Given the description of an element on the screen output the (x, y) to click on. 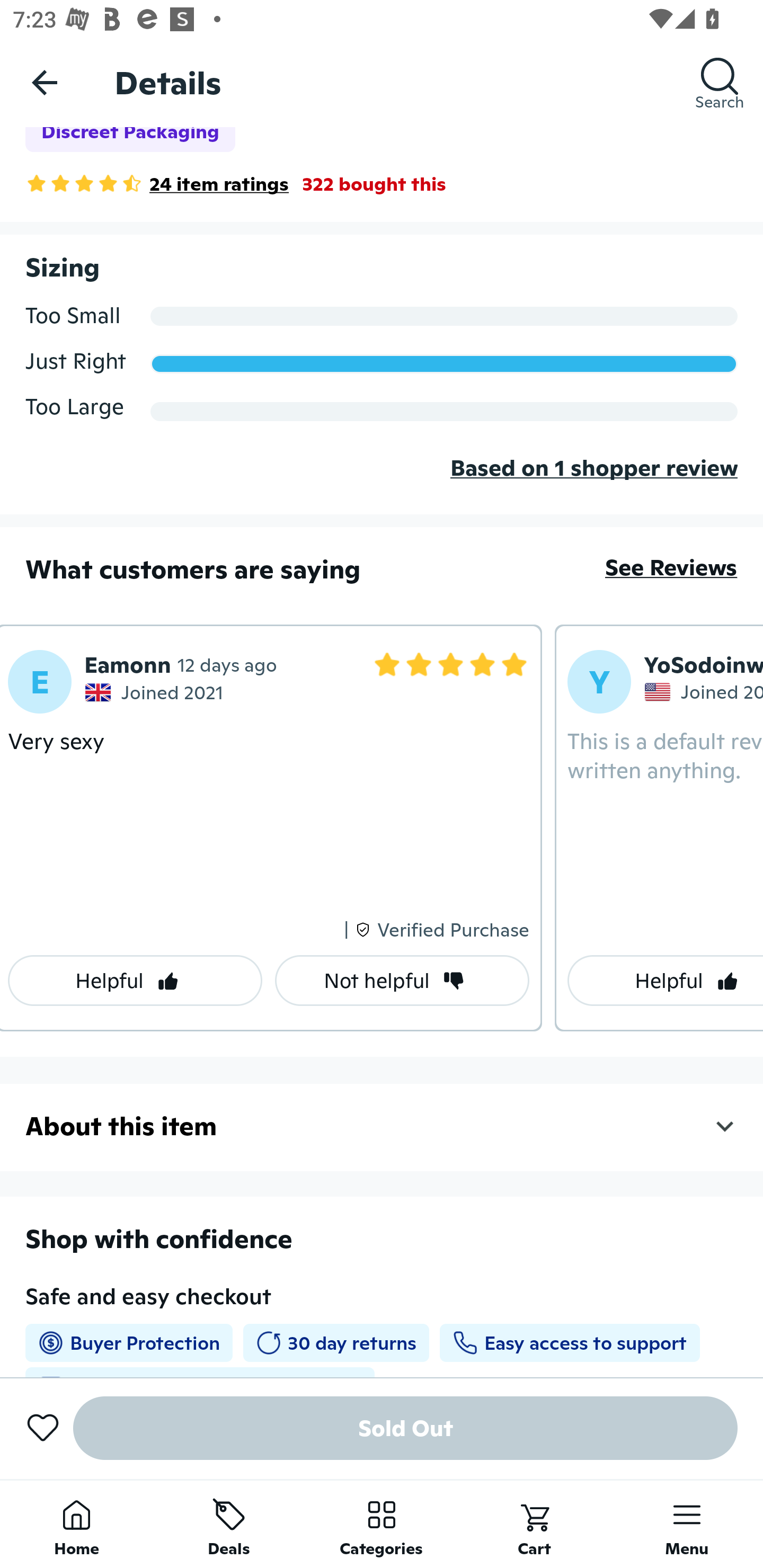
Navigate up (44, 82)
Search (719, 82)
4.2 Star Rating 24 item ratings (157, 183)
Based on 1 shopper review (381, 482)
See Reviews (671, 566)
E (39, 681)
Eamonn (126, 664)
Y (599, 681)
YoSodoinwOrK (703, 664)
Joined 2017  (703, 691)
Joined 2021  (155, 691)
Helpful (134, 980)
Not helpful (401, 980)
Helpful (665, 980)
About this item (381, 1125)
Buyer Protection (128, 1342)
30 day returns (335, 1342)
Easy access to support (569, 1342)
Sold Out (405, 1428)
Home (76, 1523)
Deals (228, 1523)
Categories (381, 1523)
Cart (533, 1523)
Menu (686, 1523)
